Given the description of an element on the screen output the (x, y) to click on. 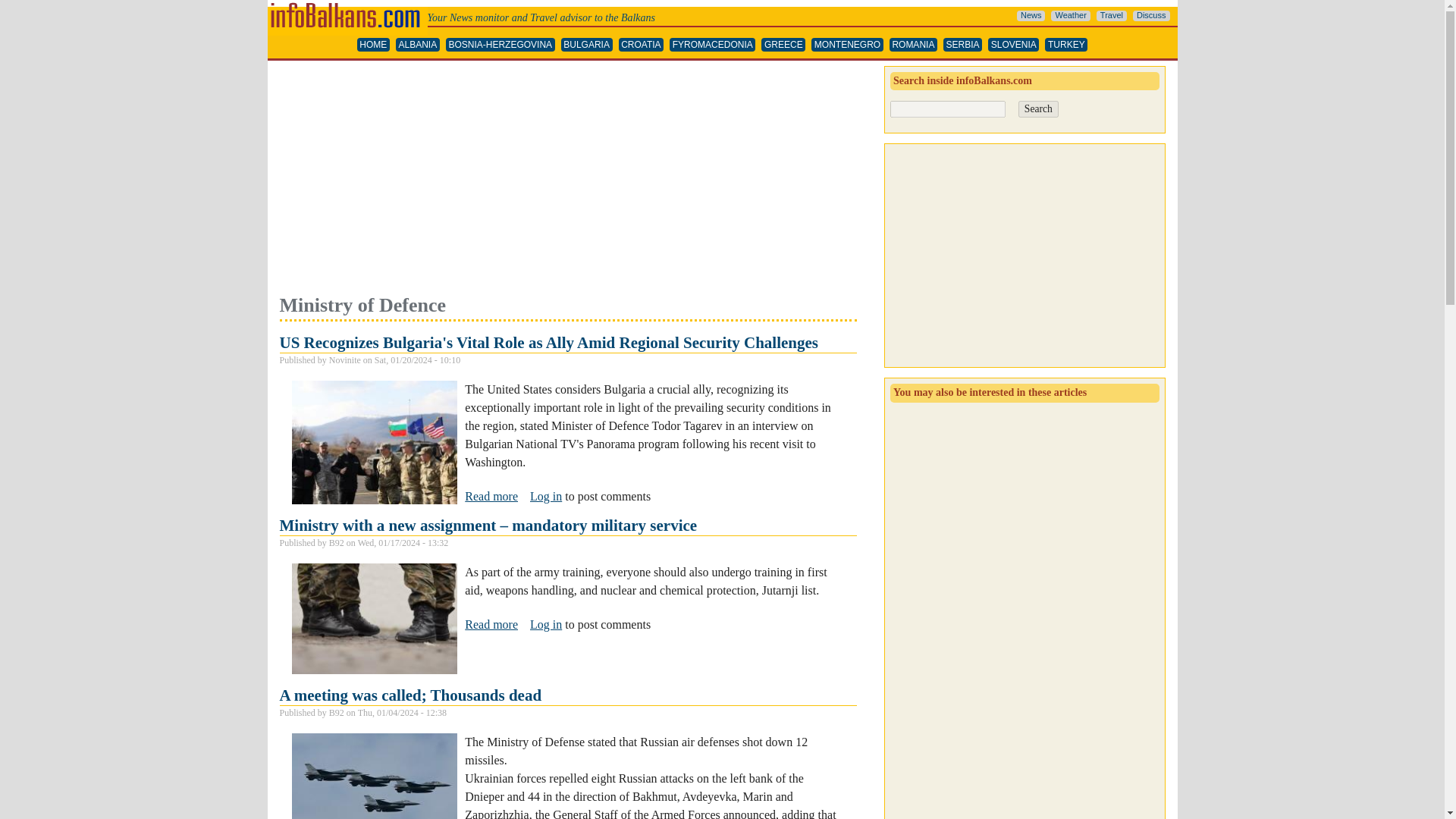
Log in (545, 624)
MONTENEGRO (846, 44)
ALBANIA (417, 44)
SLOVENIA (1013, 44)
Advertisement (567, 178)
HOME (373, 44)
BOSNIA-HERZEGOVINA (499, 44)
SERBIA (962, 44)
